Given the description of an element on the screen output the (x, y) to click on. 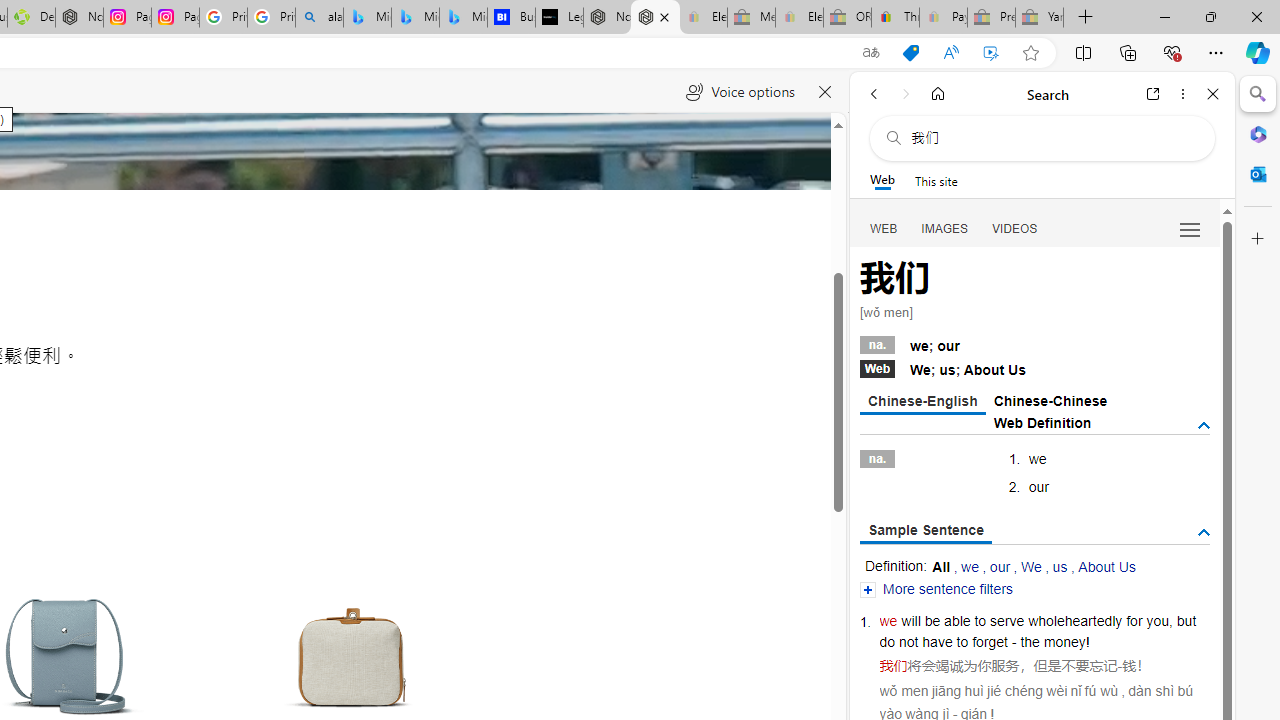
! (1087, 642)
alabama high school quarterback dies - Search (319, 17)
forget (989, 642)
we (888, 620)
AutomationID: tgdef_sen (1203, 533)
Chinese-English (922, 402)
About Us (1106, 566)
